Given the description of an element on the screen output the (x, y) to click on. 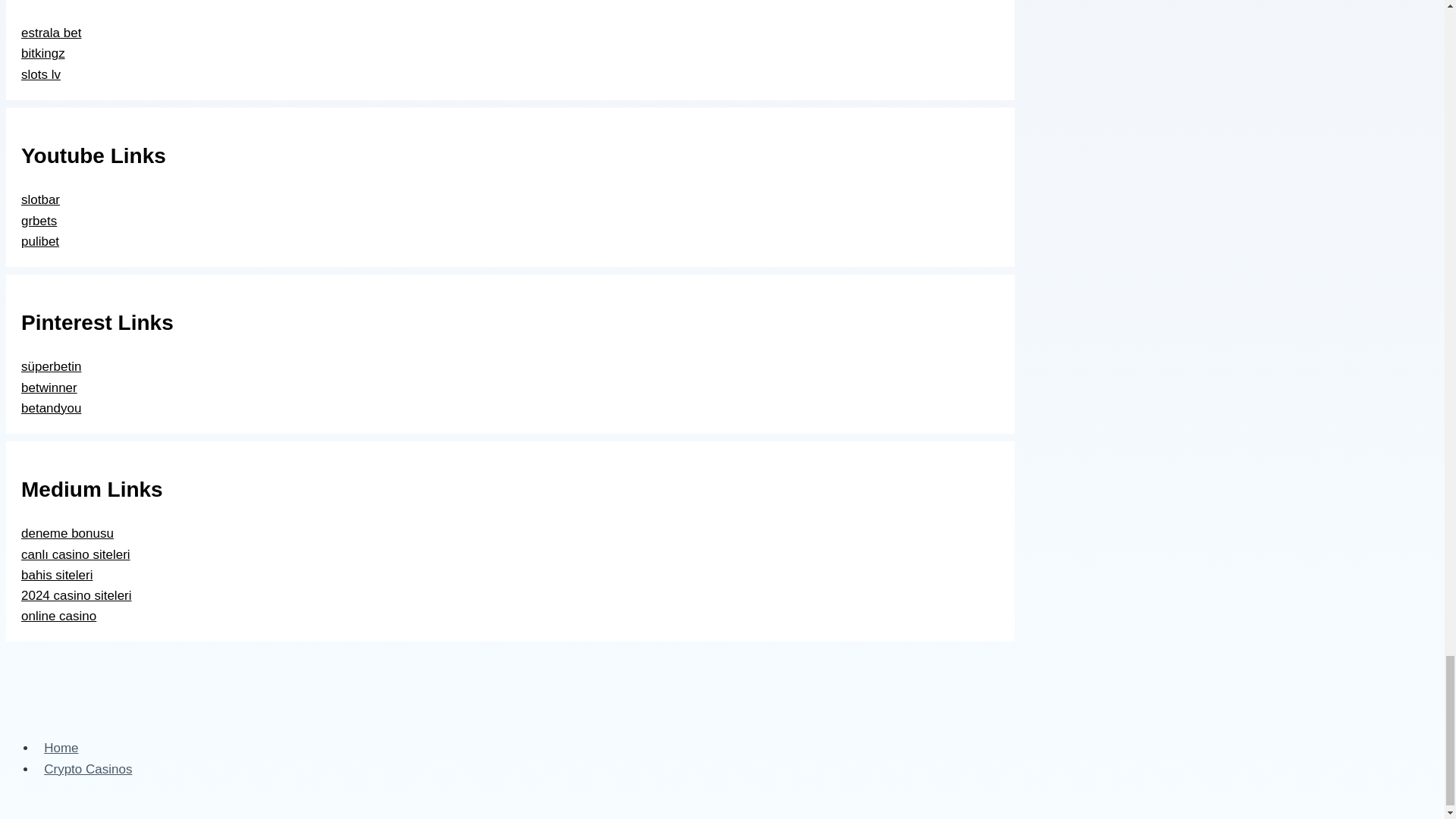
bahis siteleri (57, 575)
bitkingz (43, 52)
deneme bonusu (67, 533)
betandyou (51, 408)
grbets (38, 219)
pulibet (40, 241)
slots lv (41, 74)
estrala bet (51, 32)
slotbar (40, 199)
2024 casino siteleri (76, 595)
